Given the description of an element on the screen output the (x, y) to click on. 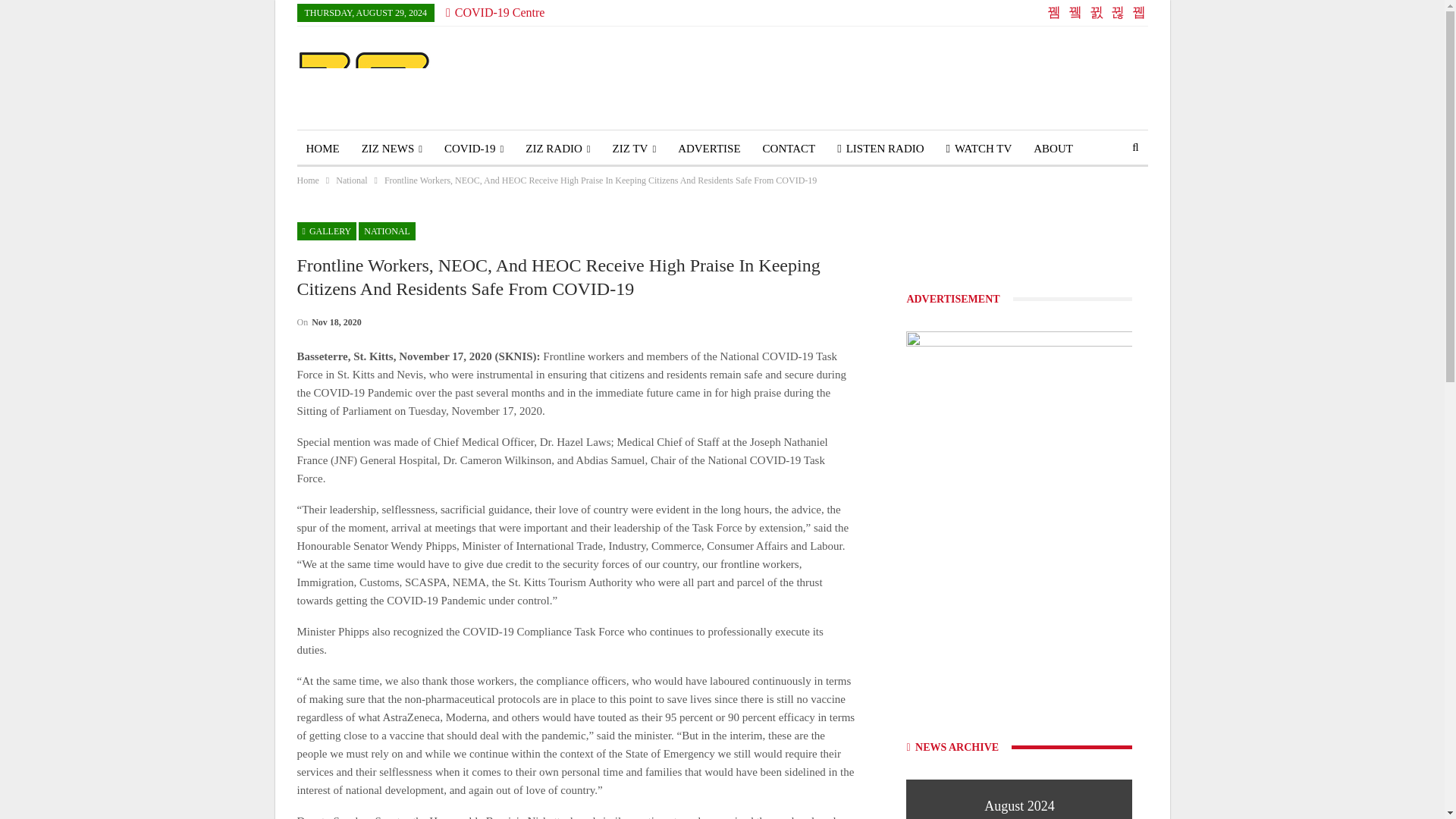
ZIZ NEWS (391, 148)
HOME (323, 148)
COVID-19 (473, 148)
COVID-19 Centre (494, 11)
ZIZ RADIO (557, 148)
